Given the description of an element on the screen output the (x, y) to click on. 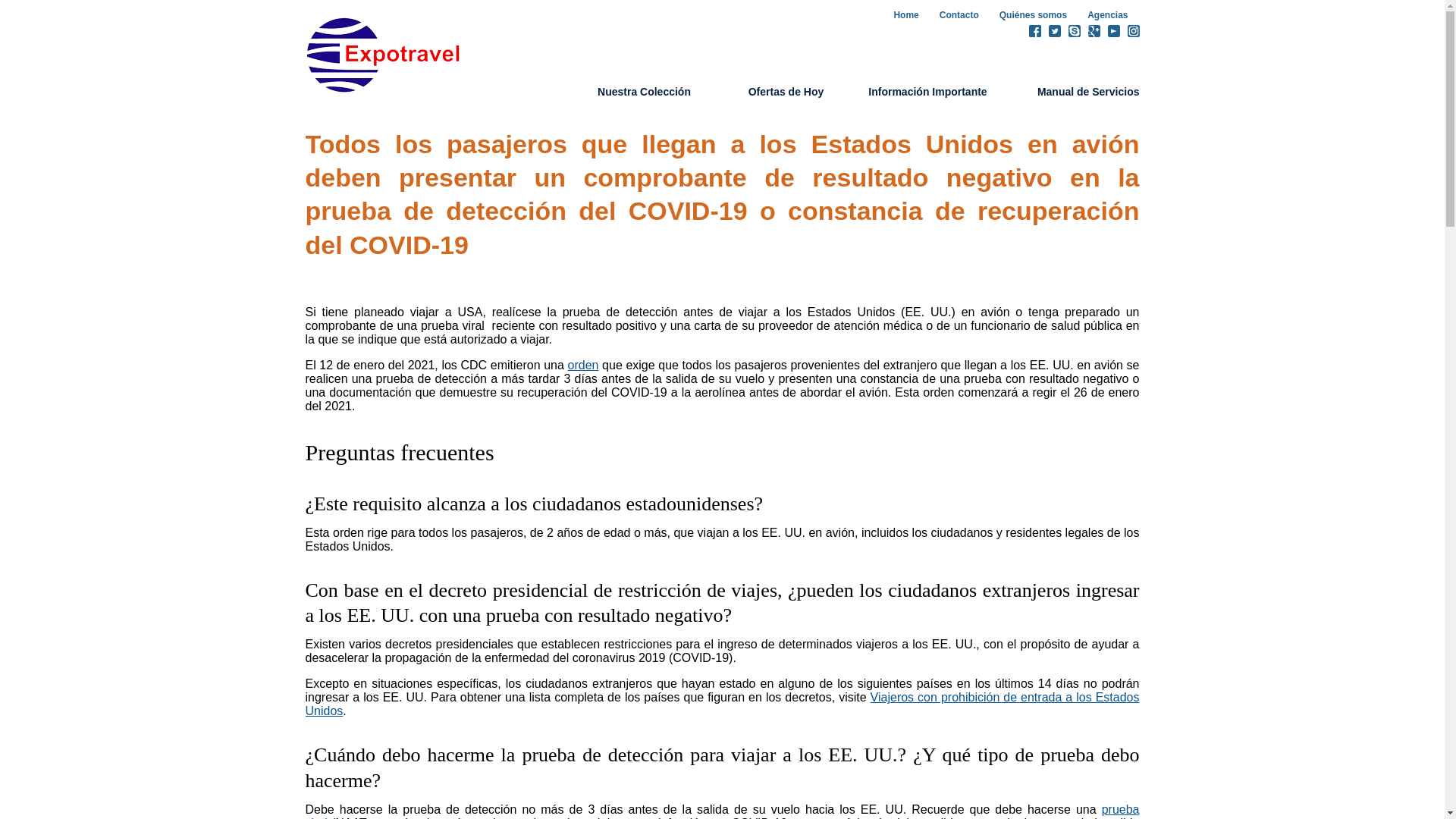
orden Element type: text (583, 364)
Agencias Element type: text (1107, 14)
Manual de Servicios Element type: text (1088, 91)
Home Element type: hover (387, 54)
Ofertas de Hoy Element type: text (786, 91)
Contacto Element type: text (959, 14)
Home Element type: text (905, 14)
